Given the description of an element on the screen output the (x, y) to click on. 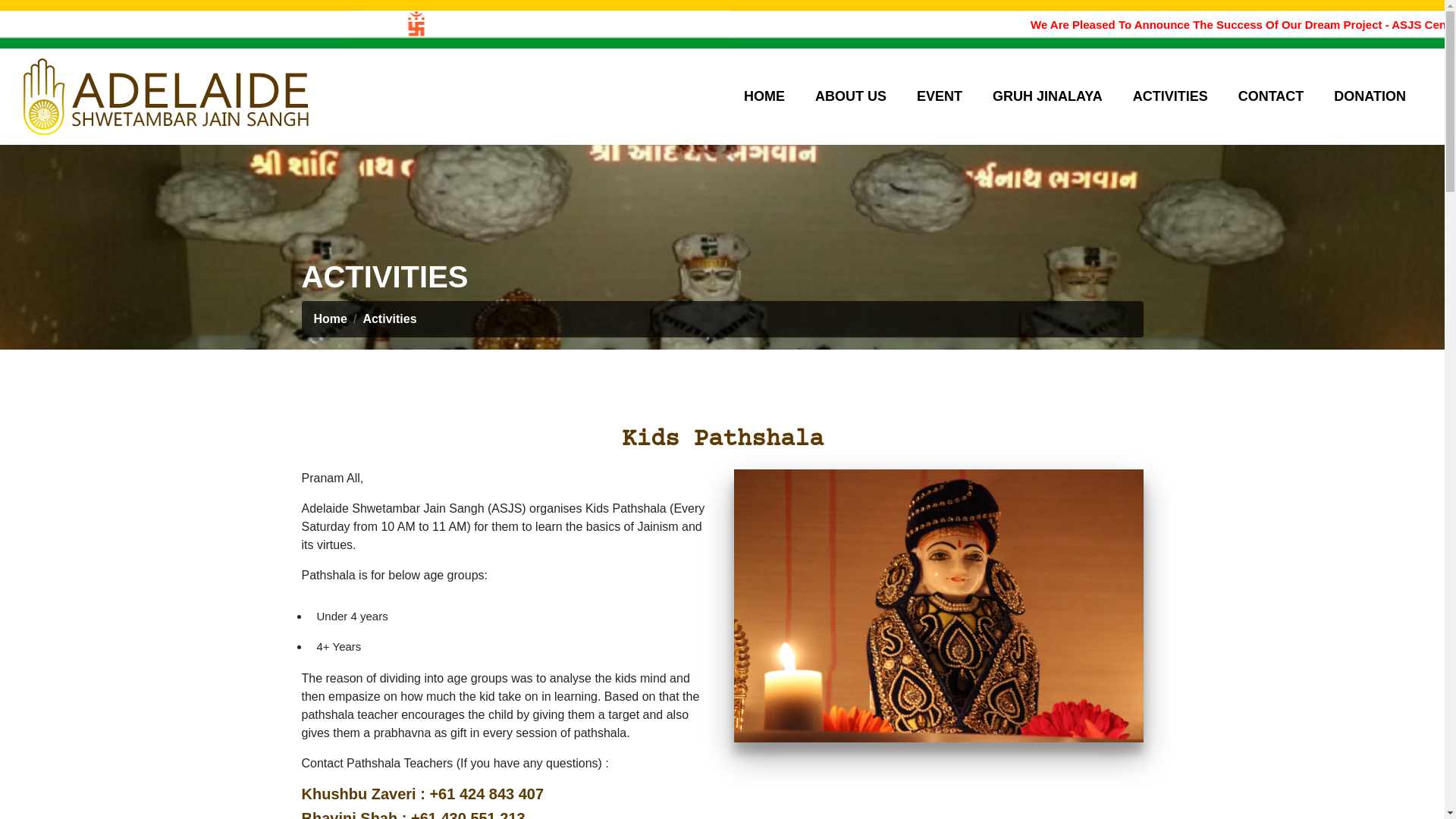
ABOUT US Element type: text (850, 95)
ACTIVITIES Element type: text (1170, 95)
CONTACT Element type: text (1271, 95)
DONATION Element type: text (1369, 95)
HOME Element type: text (763, 95)
EVENT Element type: text (939, 95)
GRUH JINALAYA Element type: text (1047, 95)
+61 424 843 407 Element type: text (486, 793)
Activities Element type: text (389, 318)
Home Element type: text (330, 318)
